Given the description of an element on the screen output the (x, y) to click on. 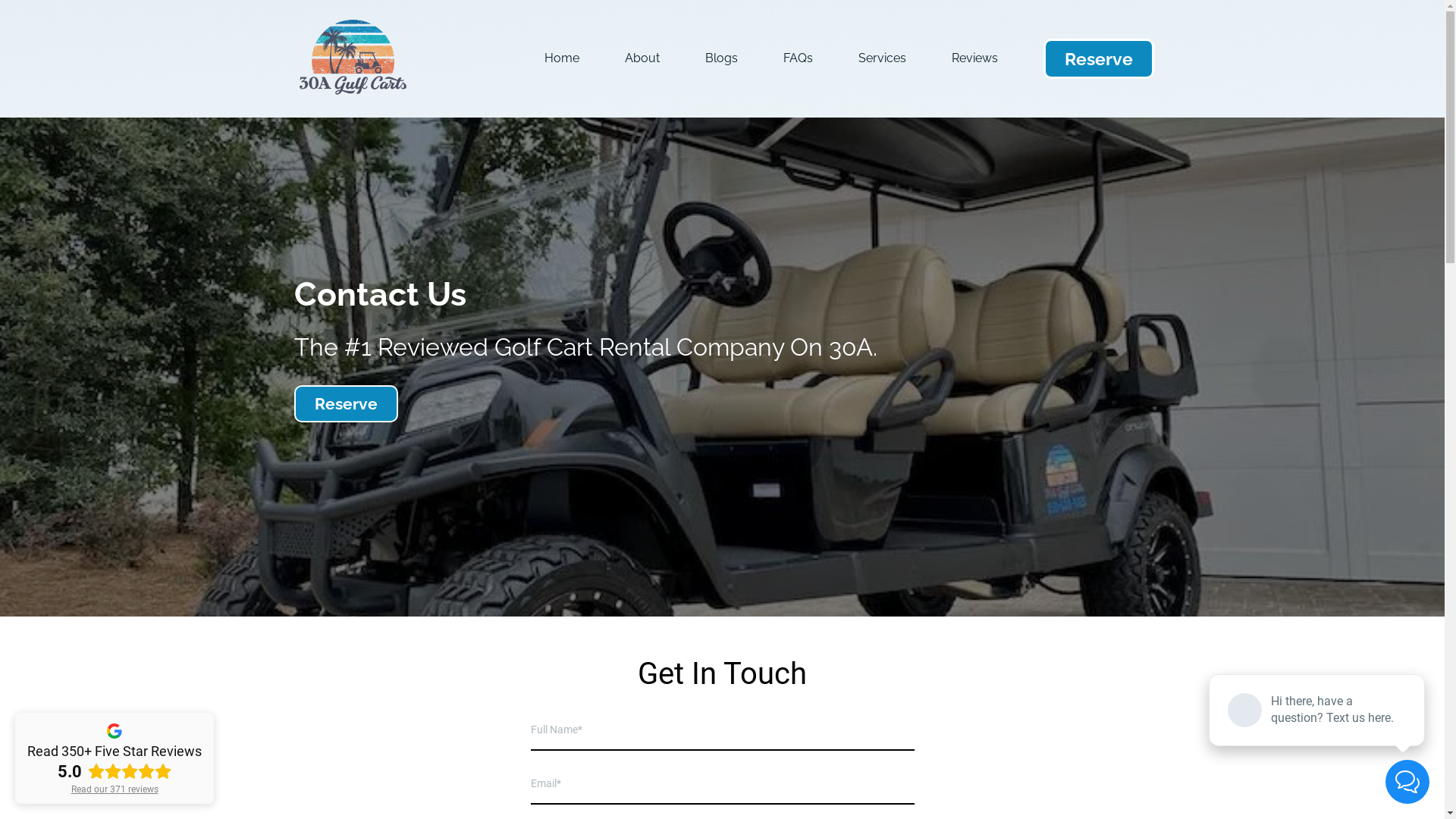
Reserve Element type: text (346, 403)
Home Element type: text (561, 58)
Reserve Element type: text (1098, 58)
FAQs Element type: text (797, 58)
About Element type: text (642, 58)
Reviews Element type: text (974, 58)
Services Element type: text (881, 58)
Blogs Element type: text (721, 58)
